Given the description of an element on the screen output the (x, y) to click on. 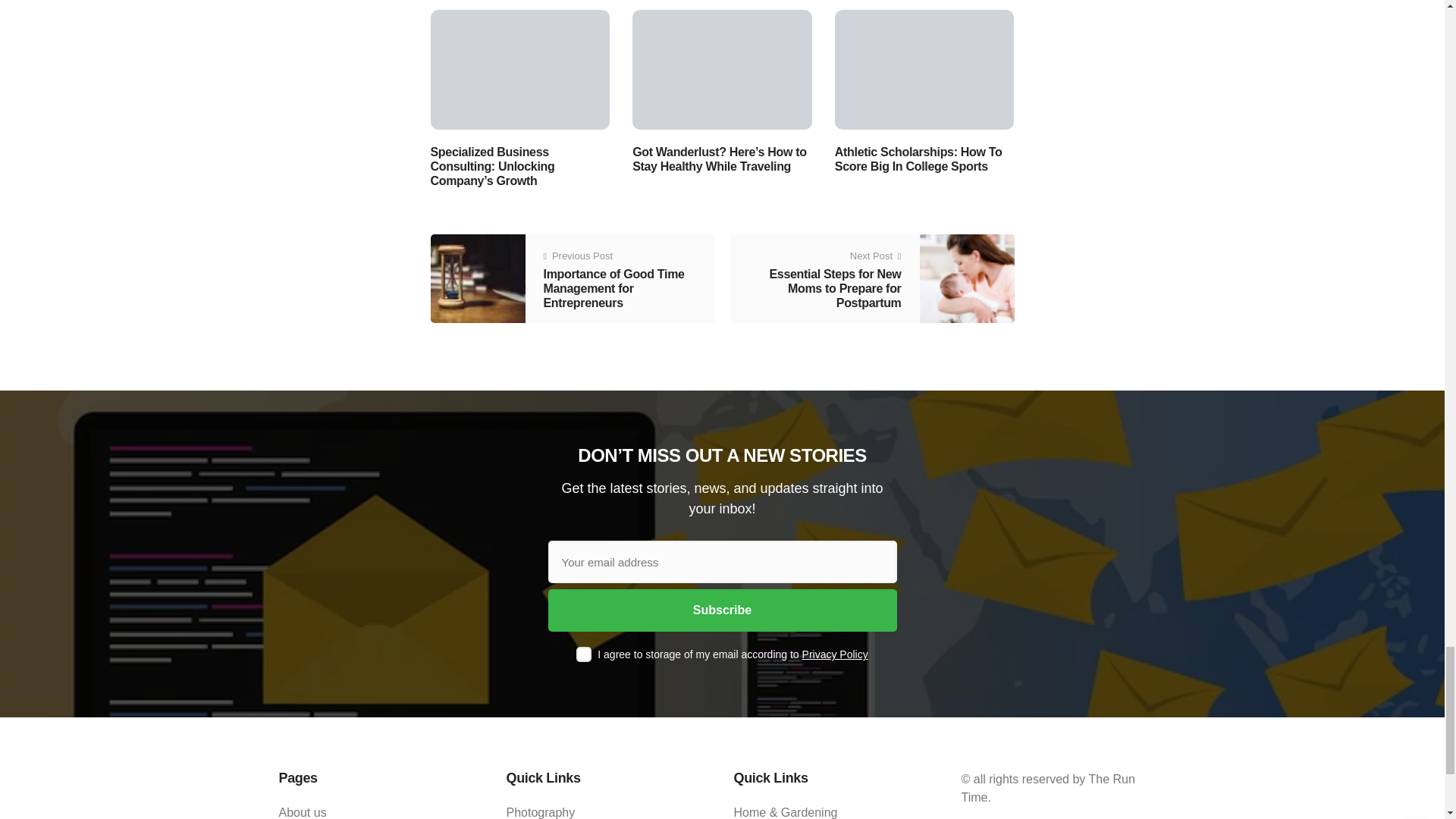
1 (583, 654)
Athletic Scholarships: How To Score Big In College Sports (924, 68)
Subscribe (721, 609)
